Given the description of an element on the screen output the (x, y) to click on. 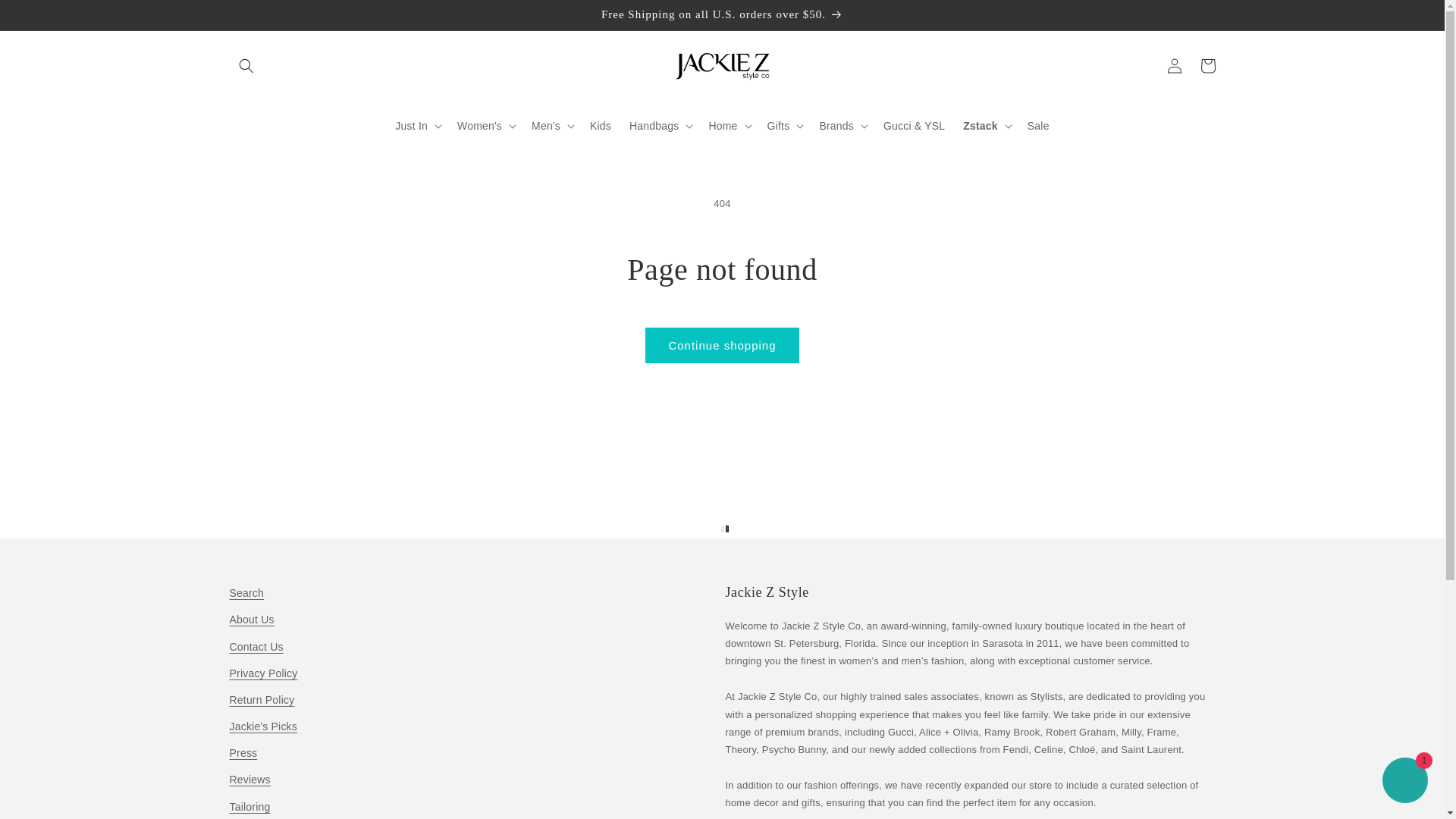
Shopify online store chat (1404, 781)
Skip to content (45, 17)
